Given the description of an element on the screen output the (x, y) to click on. 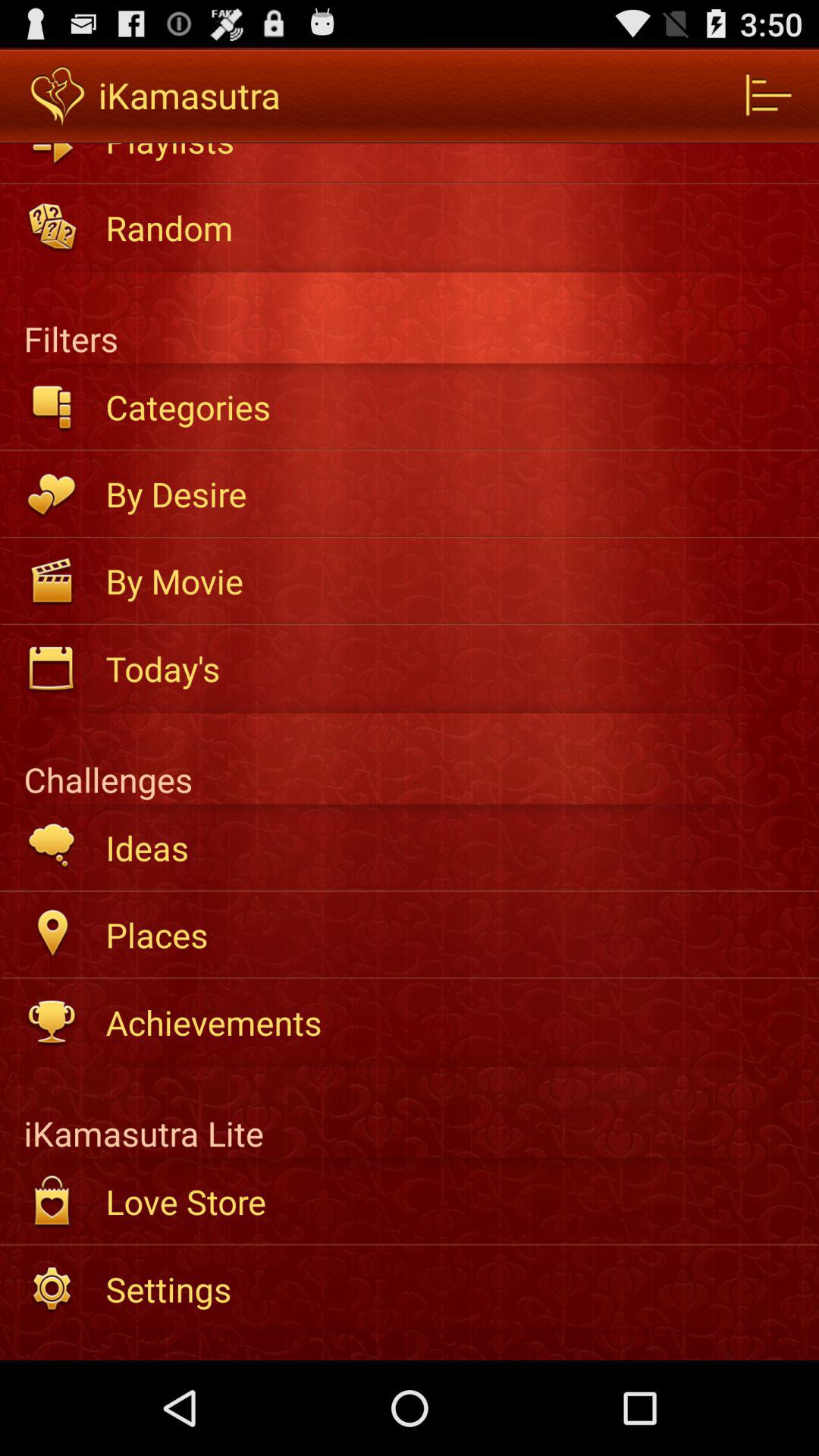
turn off the icon below challenges (452, 847)
